Given the description of an element on the screen output the (x, y) to click on. 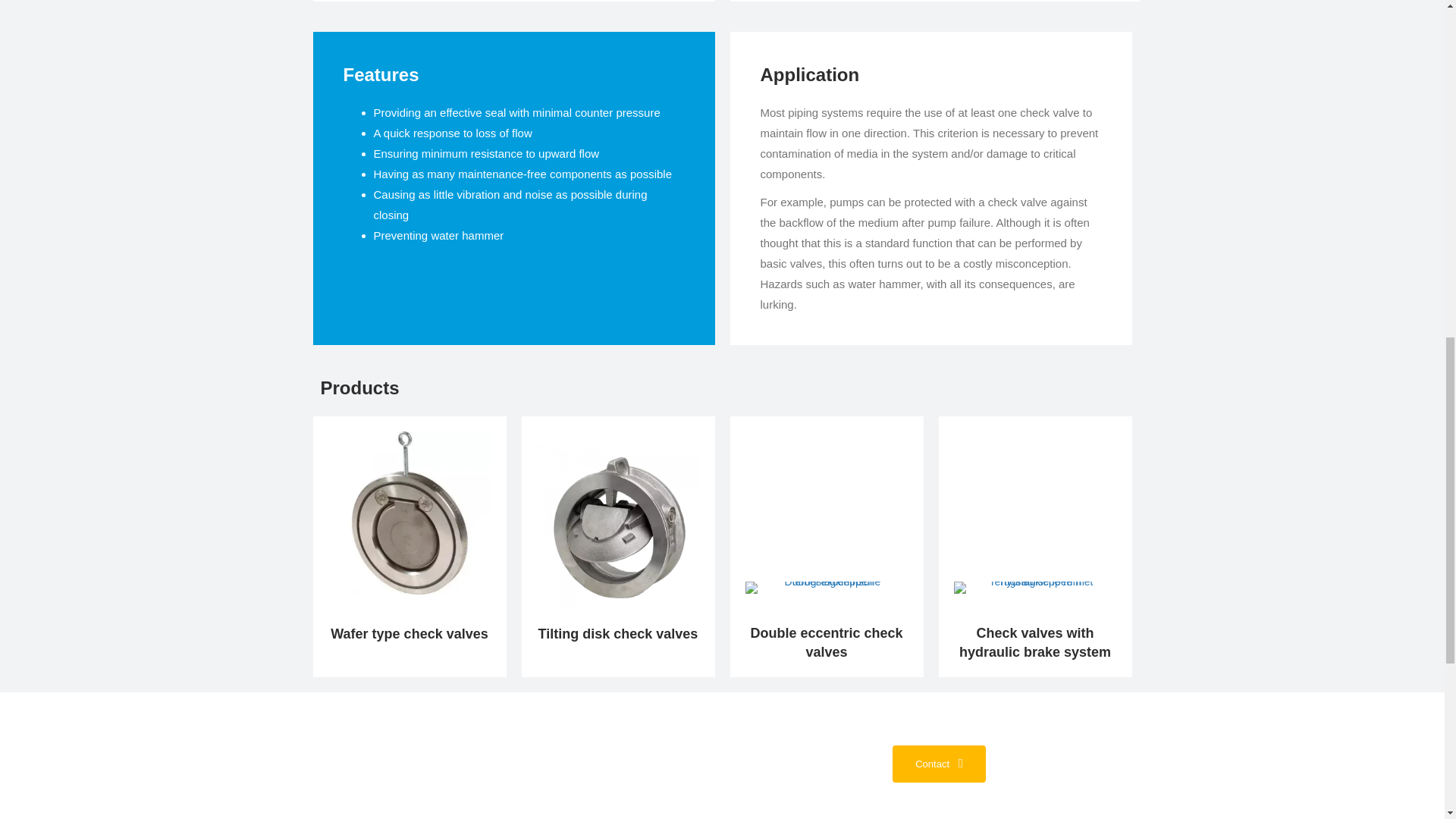
Inklembare terugslagkleppen (408, 512)
Double eccentric check valves (825, 642)
Tilting disk check valves (618, 633)
Tilting-disc-terugslagkleppen-1 (618, 527)
Terugslagkleppen met hydraulische rem (1034, 587)
Dubbel excentrische terugslagkleppen (825, 587)
Wafer type check valves (408, 633)
Check valves with hydraulic brake system (1034, 642)
